Given the description of an element on the screen output the (x, y) to click on. 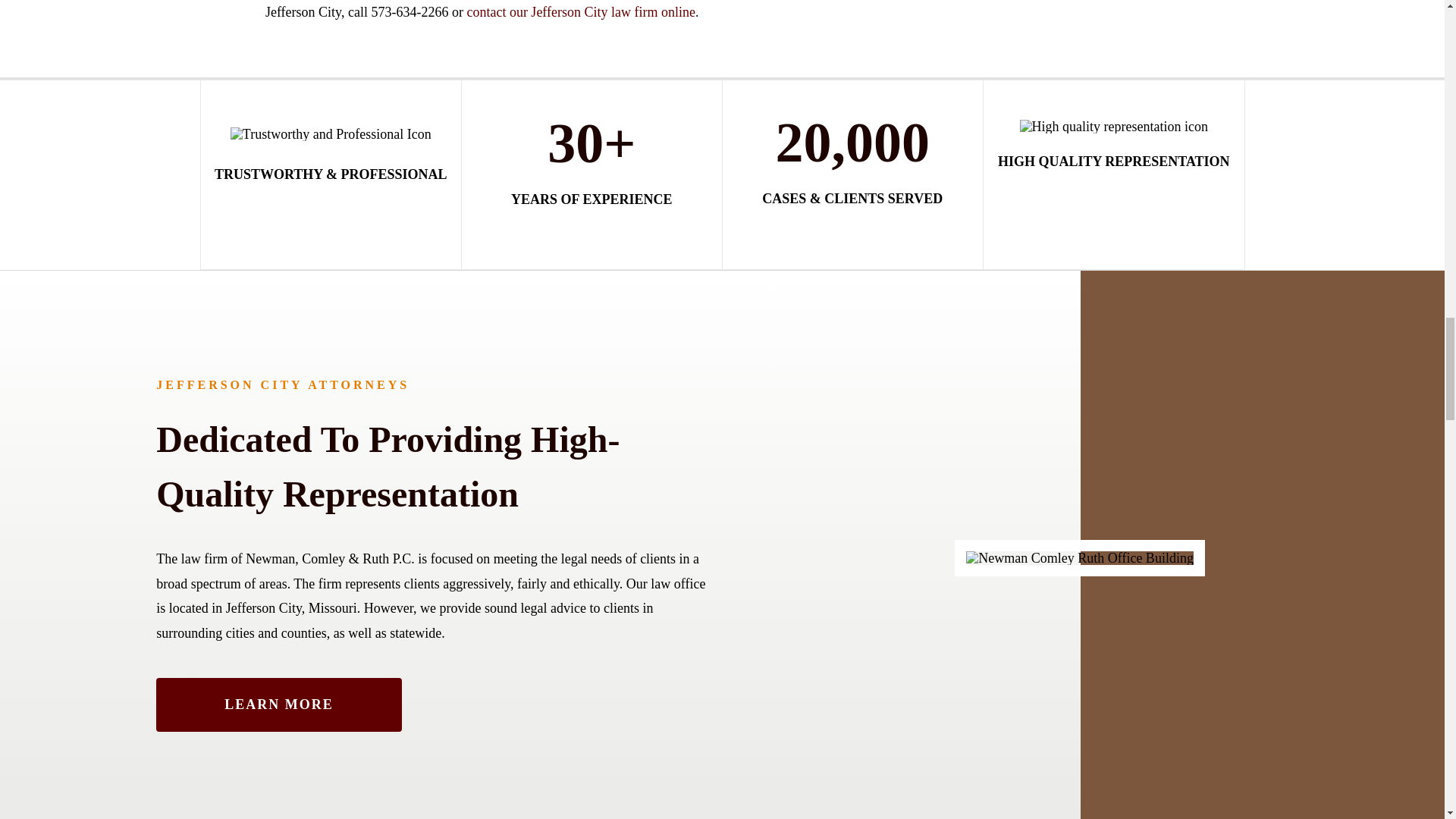
High quality representation icon (1114, 126)
Newman Comley Ruth Office Building (1079, 558)
Trustworthy and Professional Icon (330, 133)
